Given the description of an element on the screen output the (x, y) to click on. 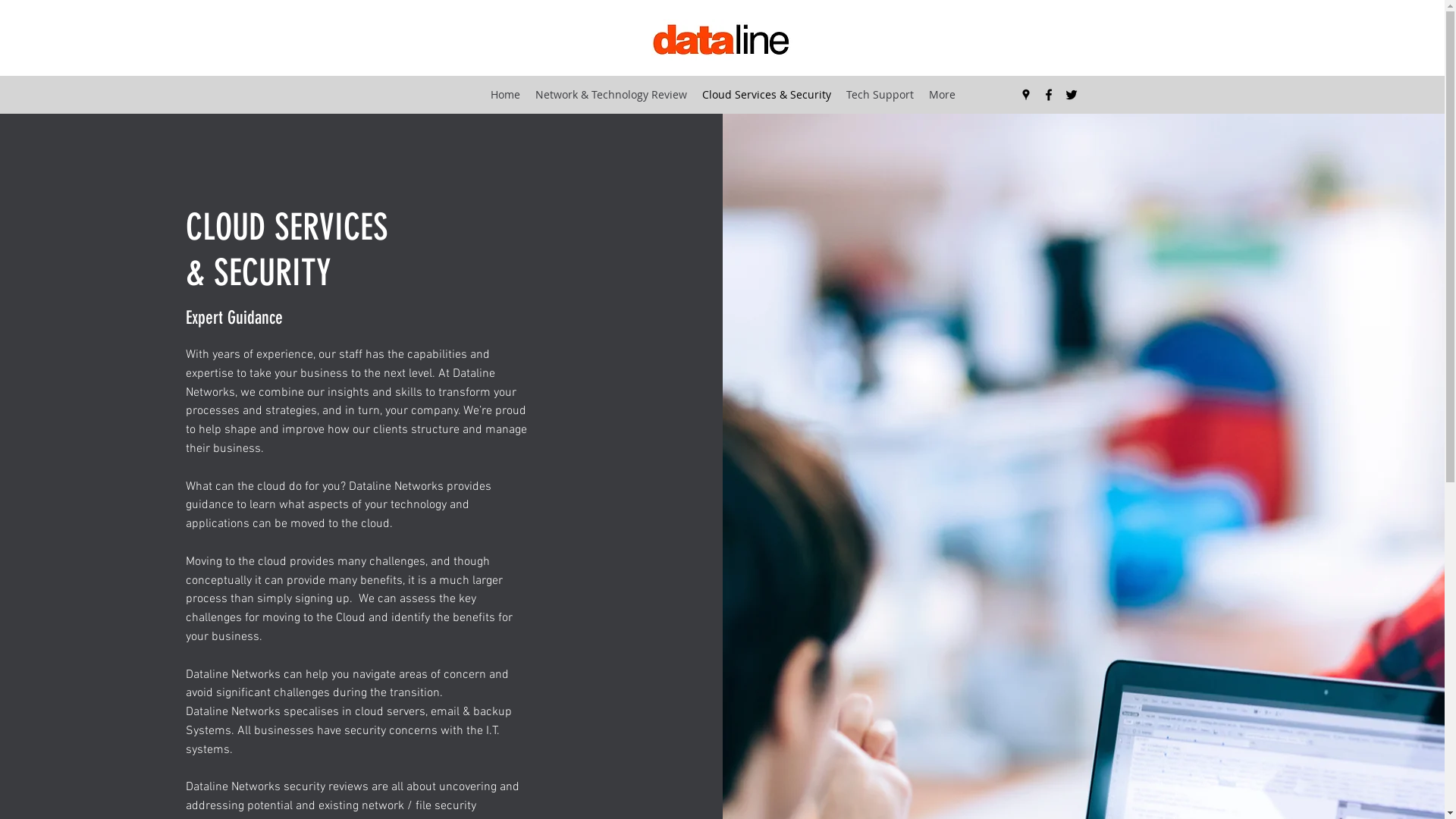
Home Element type: text (504, 94)
Cloud Services & Security Element type: text (766, 94)
Tech Support Element type: text (879, 94)
Network & Technology Review Element type: text (610, 94)
